Given the description of an element on the screen output the (x, y) to click on. 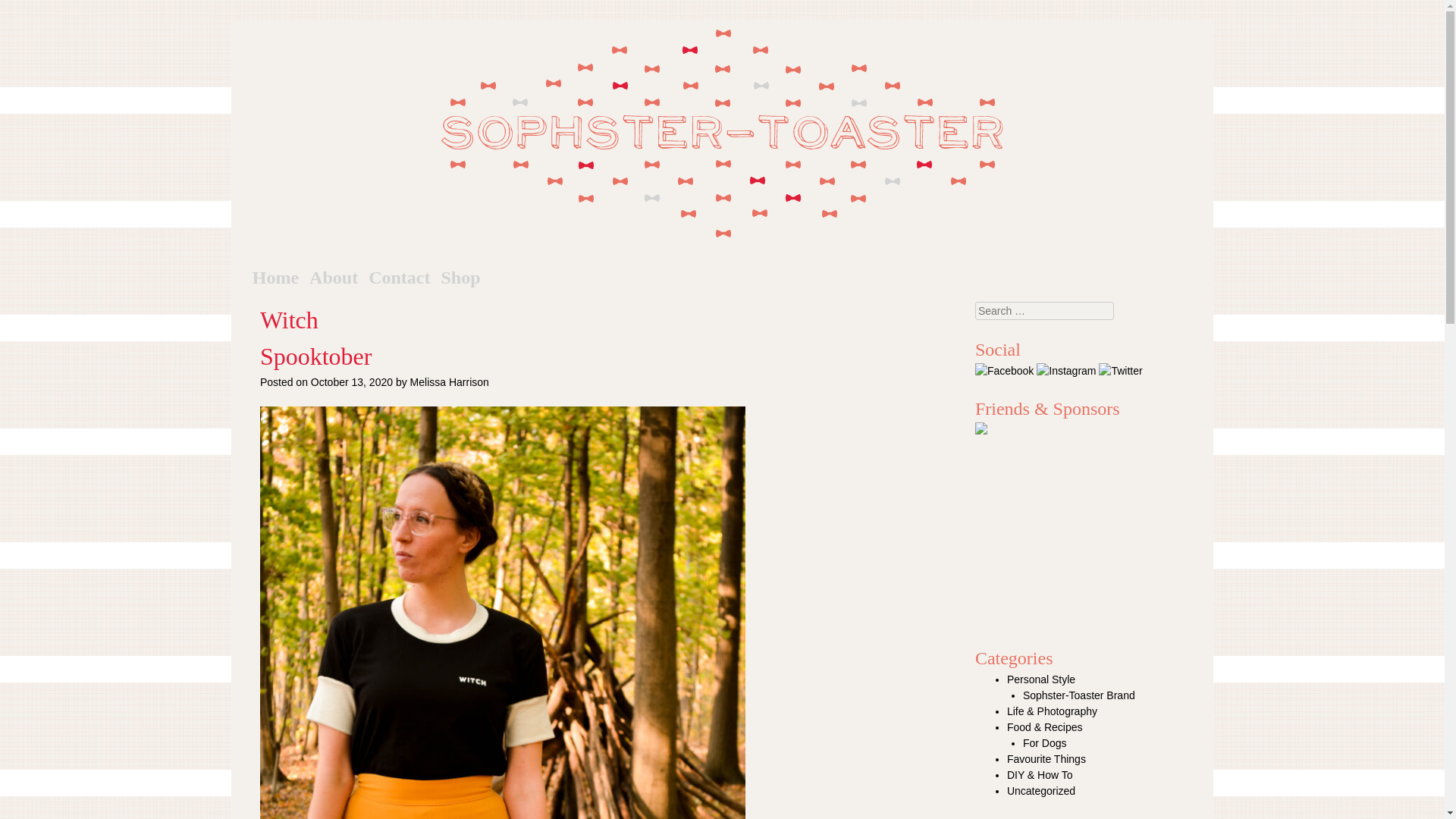
Melissa Harrison (449, 381)
October 13, 2020 (352, 381)
Shop (460, 277)
About (333, 277)
Skip to content (310, 277)
Personal Style (1041, 679)
Home (274, 277)
Spooktober (316, 356)
Contact (398, 277)
Search (24, 9)
